Given the description of an element on the screen output the (x, y) to click on. 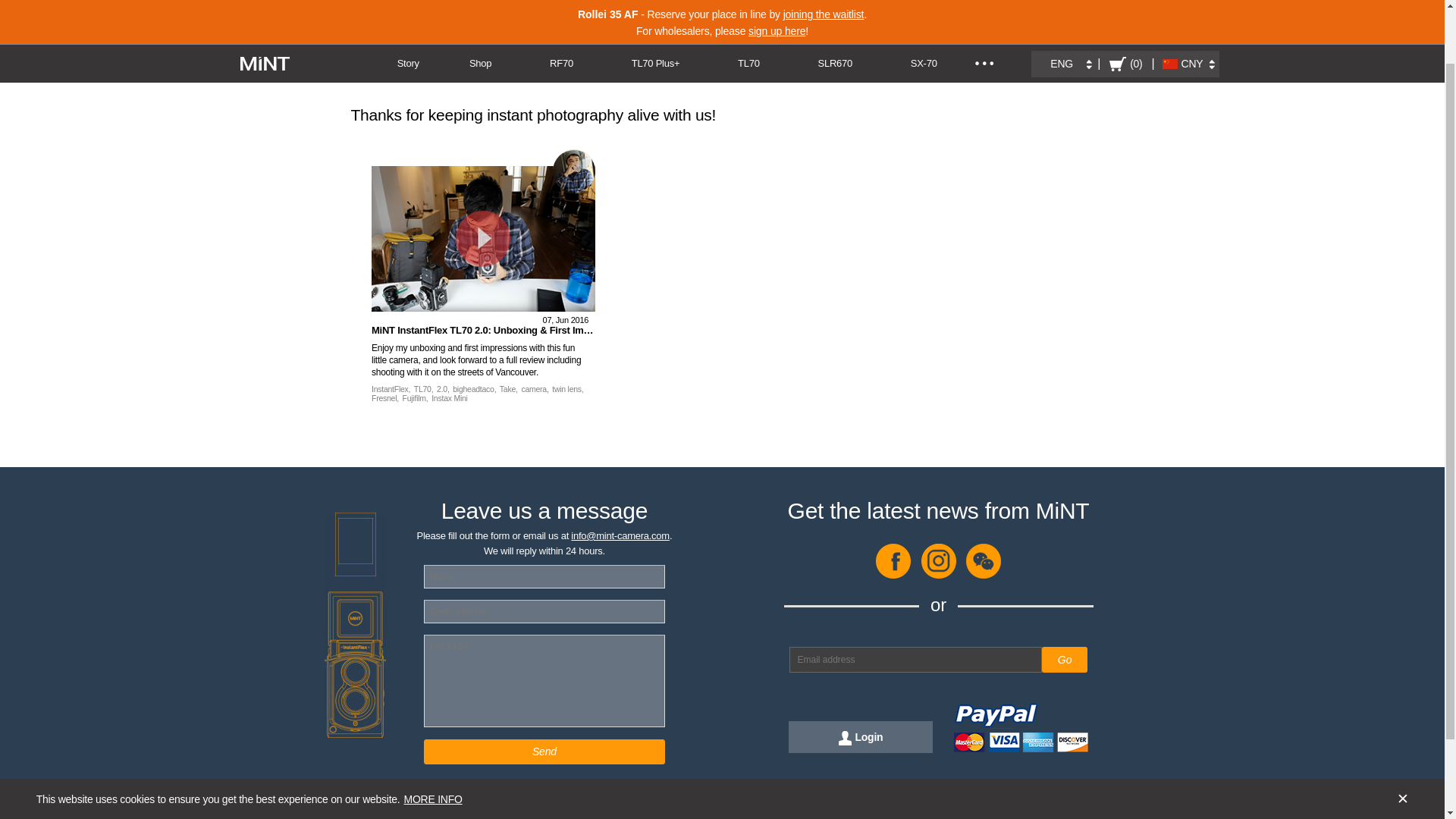
MiNT Camera (264, 3)
WeChat ID: MintCameraNat (983, 575)
RF70 (561, 9)
SLR670 (834, 9)
Shop (481, 9)
bigheadtaco (574, 170)
TL70 (749, 9)
Go (1064, 659)
Story (408, 9)
SX-70 (923, 9)
